Given the description of an element on the screen output the (x, y) to click on. 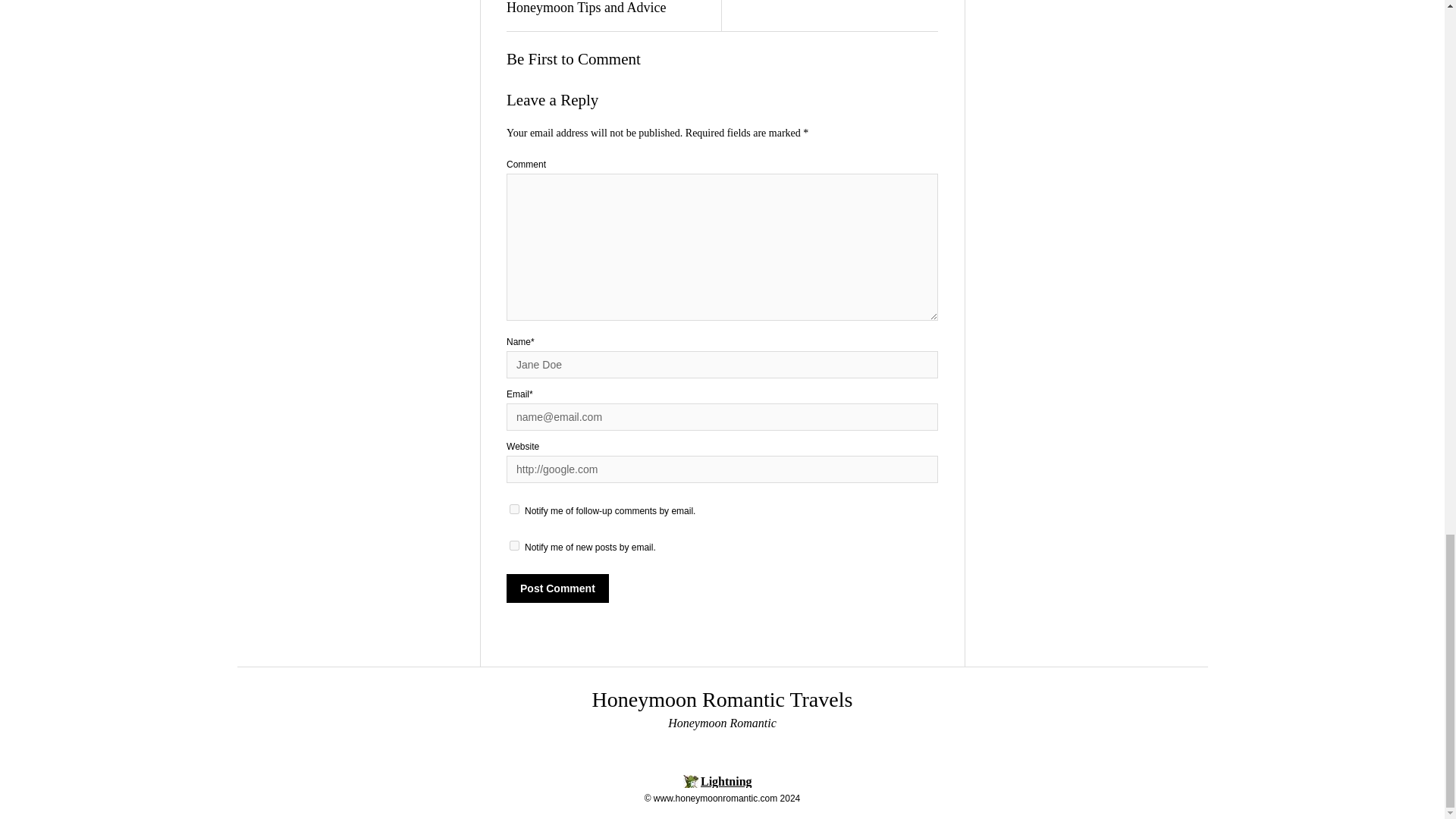
subscribe (514, 509)
Post Comment (557, 588)
subscribe (514, 545)
